Given the description of an element on the screen output the (x, y) to click on. 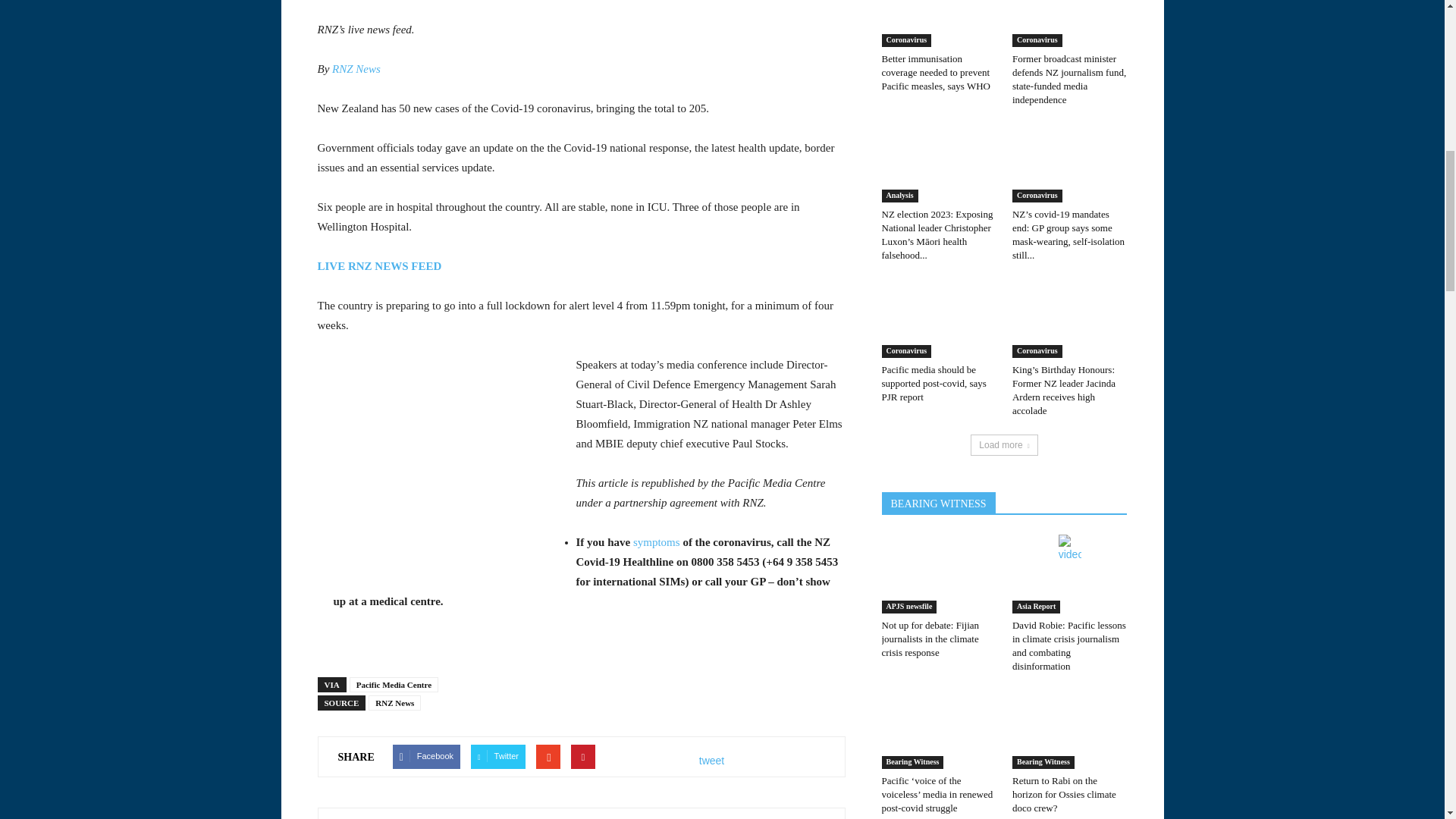
Tuvalu (140, 63)
Myanmar (140, 352)
West Papua (140, 121)
Malaysia (140, 323)
China (140, 236)
Lao (140, 294)
Vanuatu (140, 92)
Tokelau (140, 10)
Tonga (140, 35)
Asia Report (140, 150)
